Given the description of an element on the screen output the (x, y) to click on. 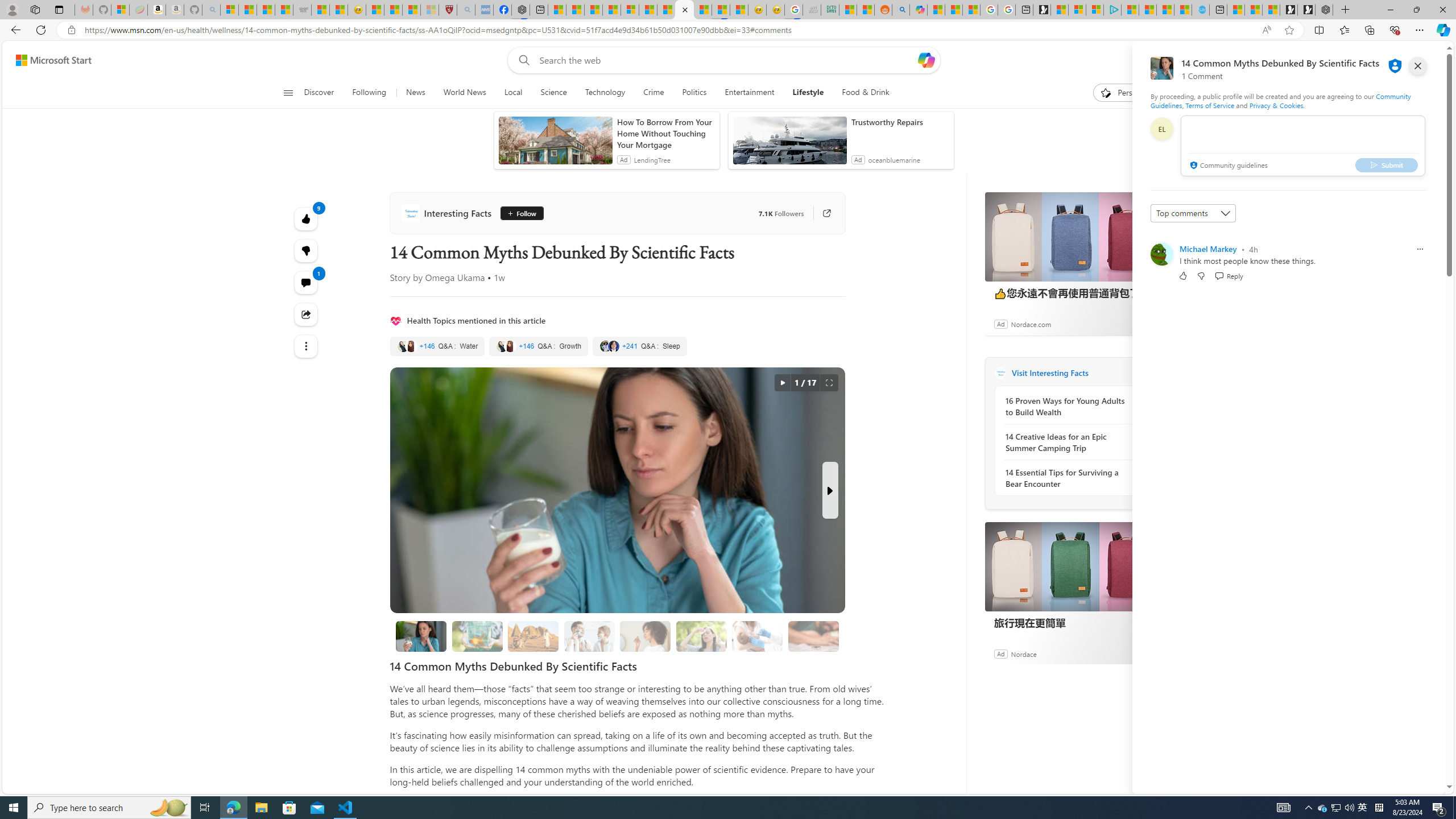
1. Dry Mouth (645, 635)
Enter your search term (726, 59)
14 Common Myths Debunked By Scientific Facts (421, 635)
Skip to footer (46, 59)
Profile Picture (1161, 254)
